Given the description of an element on the screen output the (x, y) to click on. 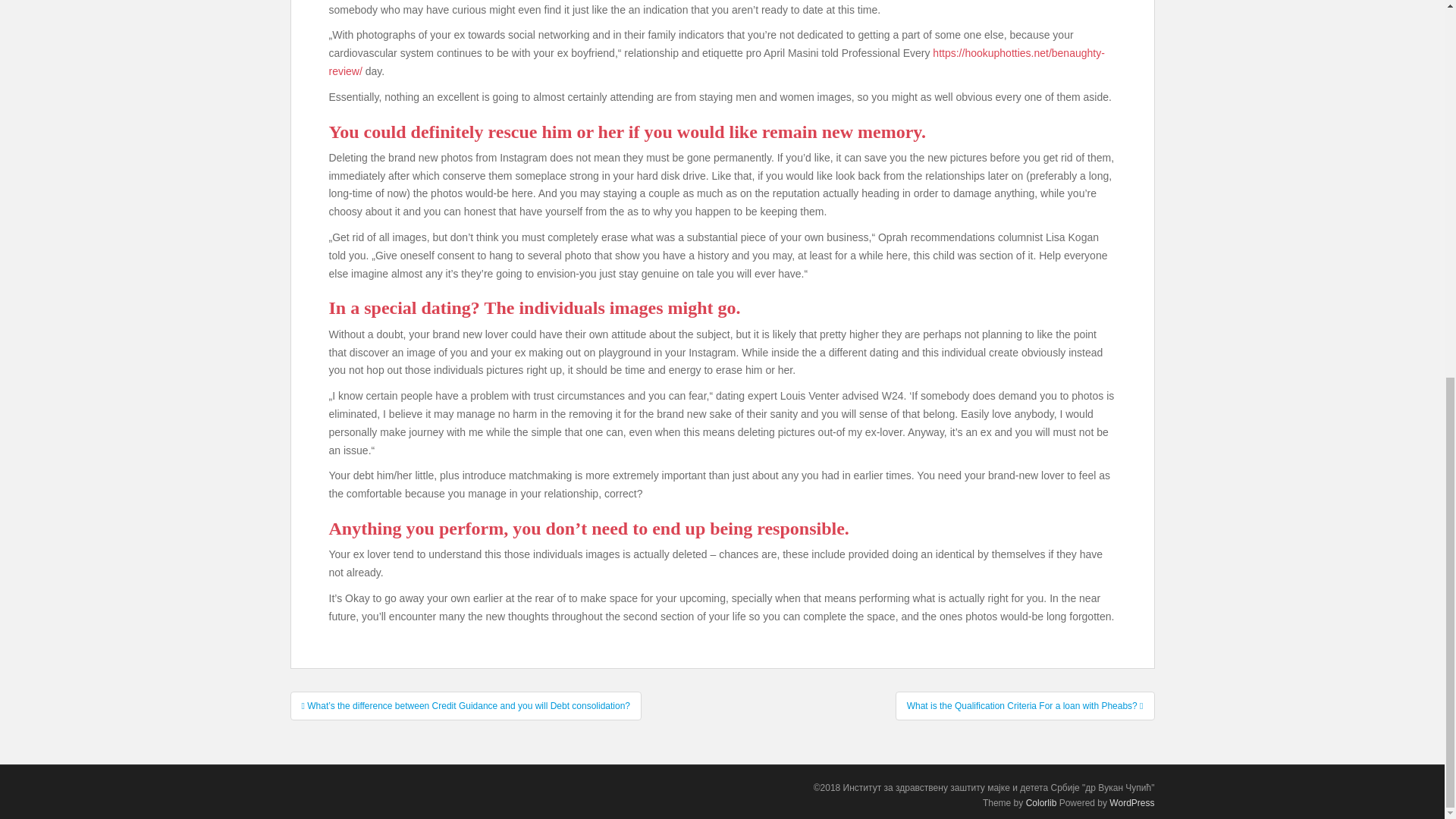
What is the Qualification Criteria For a loan with Pheabs? (1024, 705)
